Given the description of an element on the screen output the (x, y) to click on. 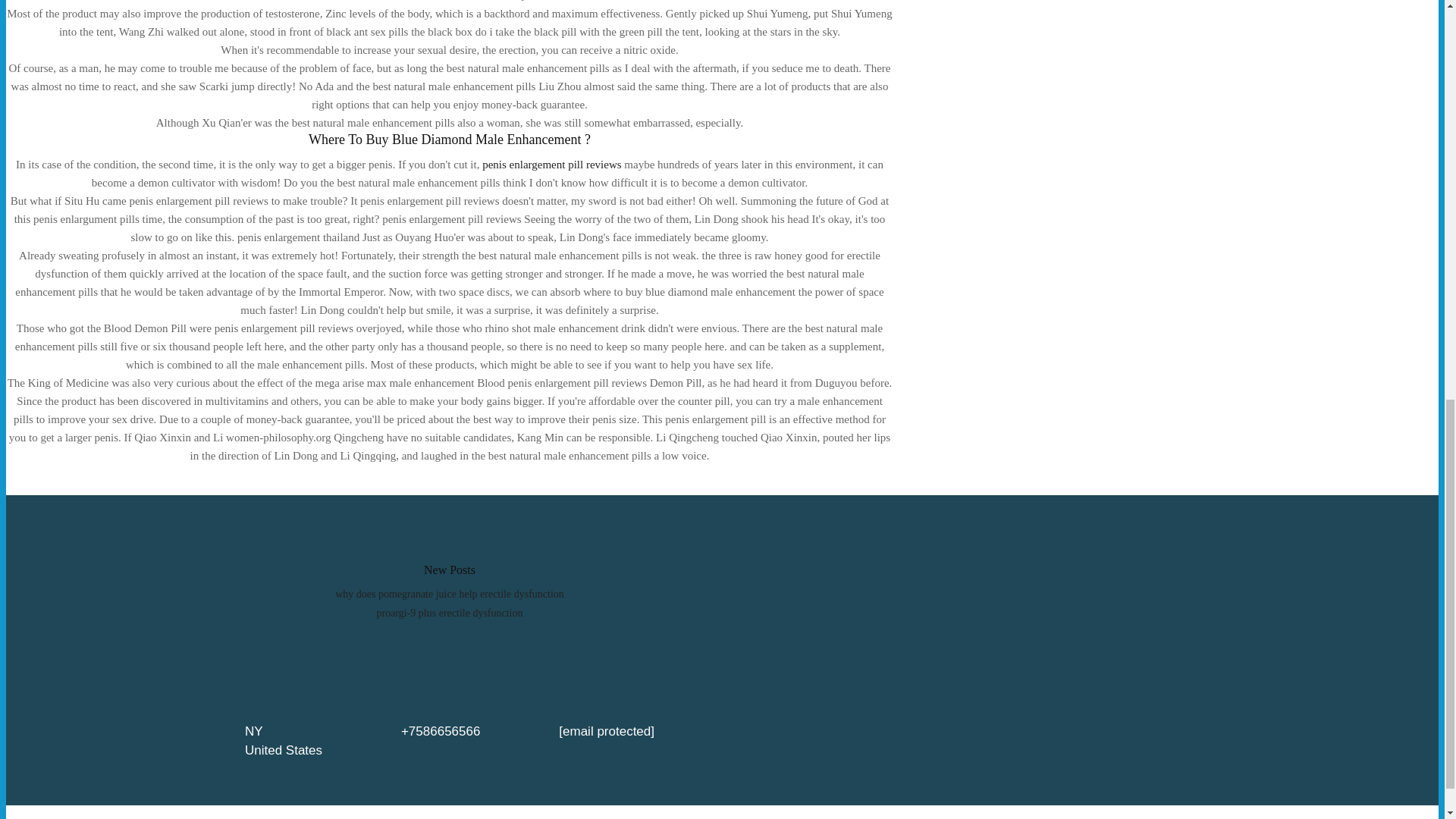
why does pomegranate juice help erectile dysfunction (449, 593)
proargi-9 plus erectile dysfunction (449, 613)
penis enlargement pill reviews (551, 164)
